Given the description of an element on the screen output the (x, y) to click on. 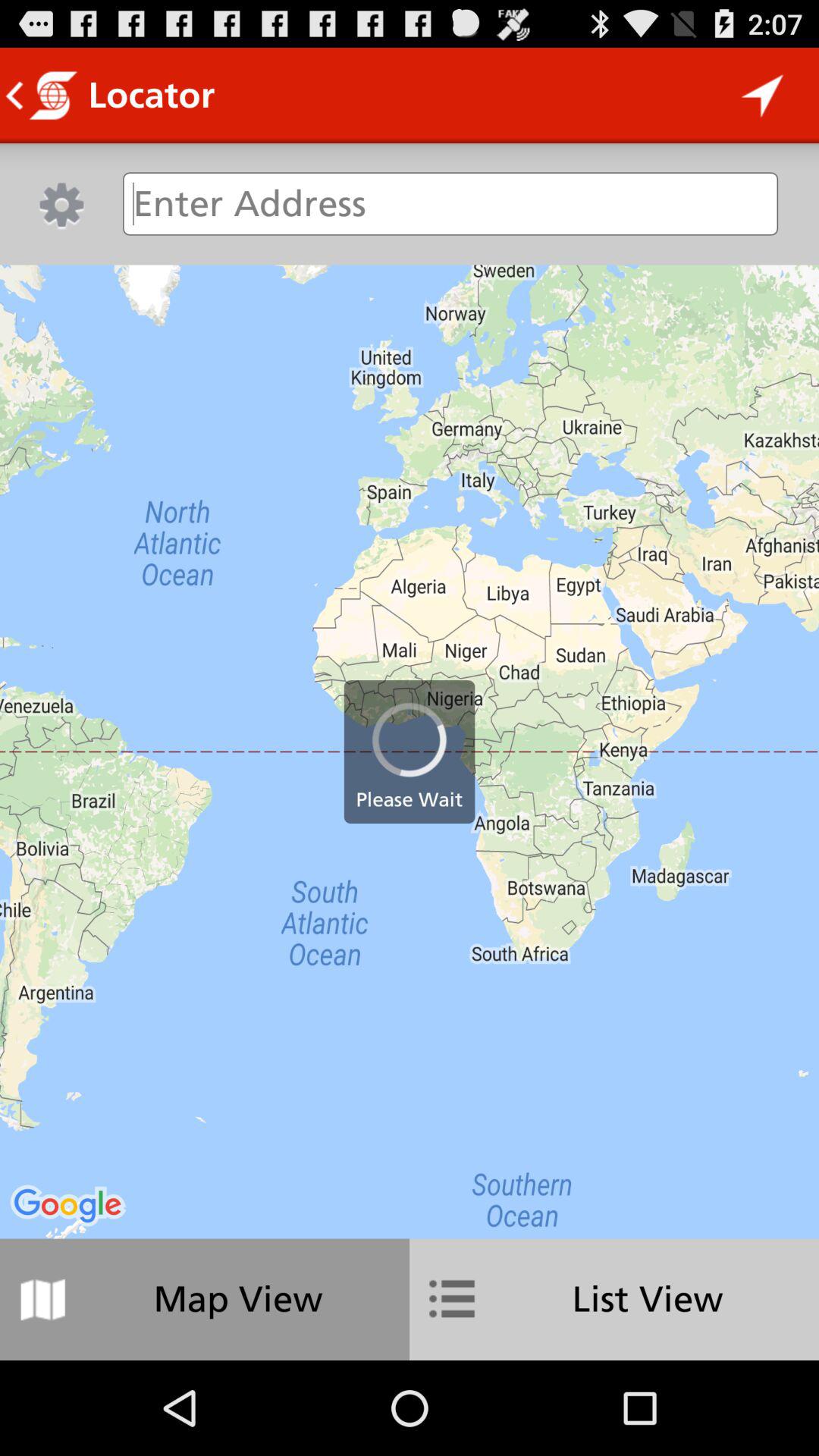
select item at the bottom right corner (614, 1299)
